Given the description of an element on the screen output the (x, y) to click on. 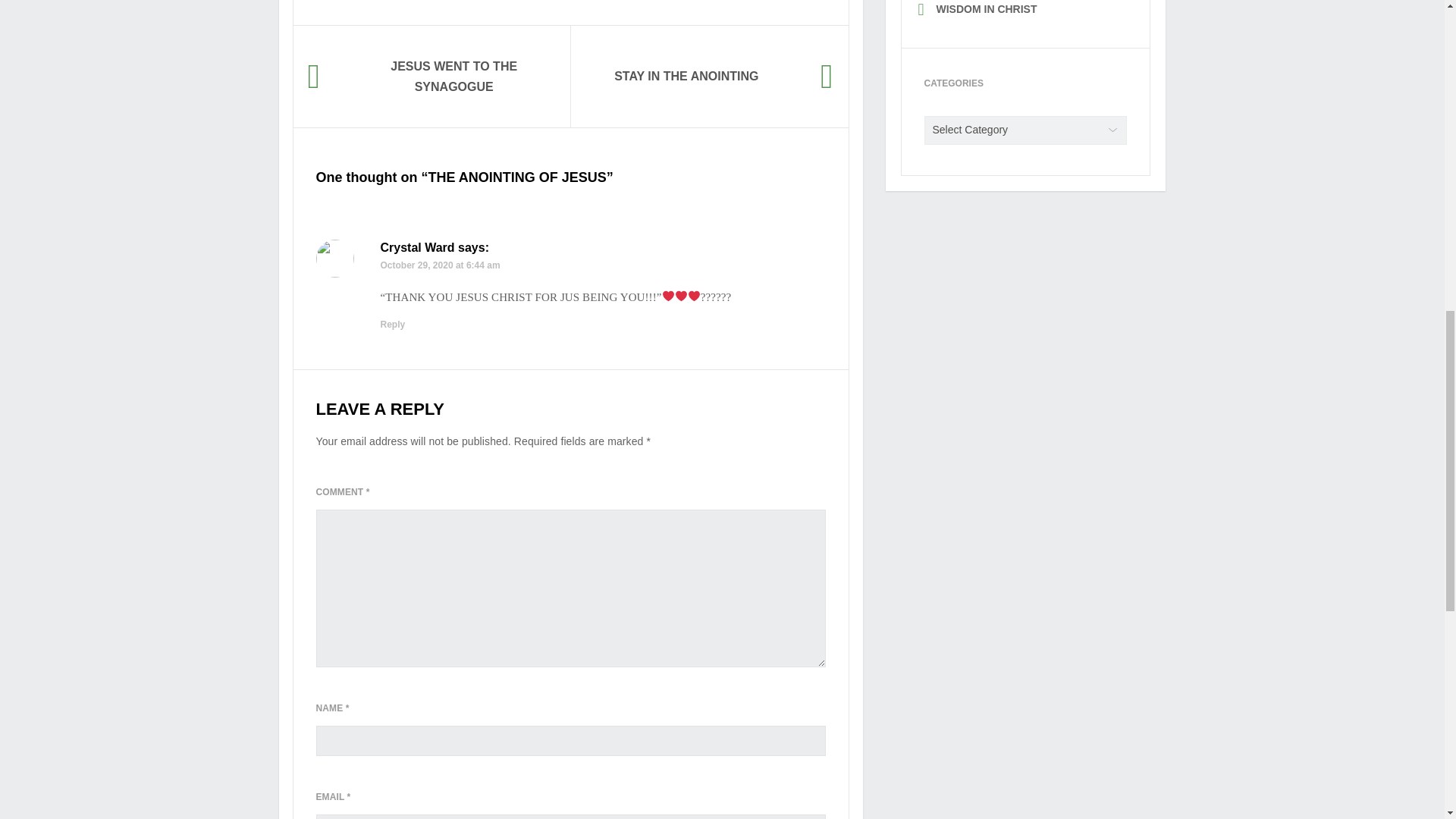
JESUS WENT TO THE SYNAGOGUE (431, 76)
WISDOM IN CHRIST (986, 9)
Reply (393, 324)
STAY IN THE ANOINTING (708, 75)
October 29, 2020 at 6:44 am (440, 265)
